Given the description of an element on the screen output the (x, y) to click on. 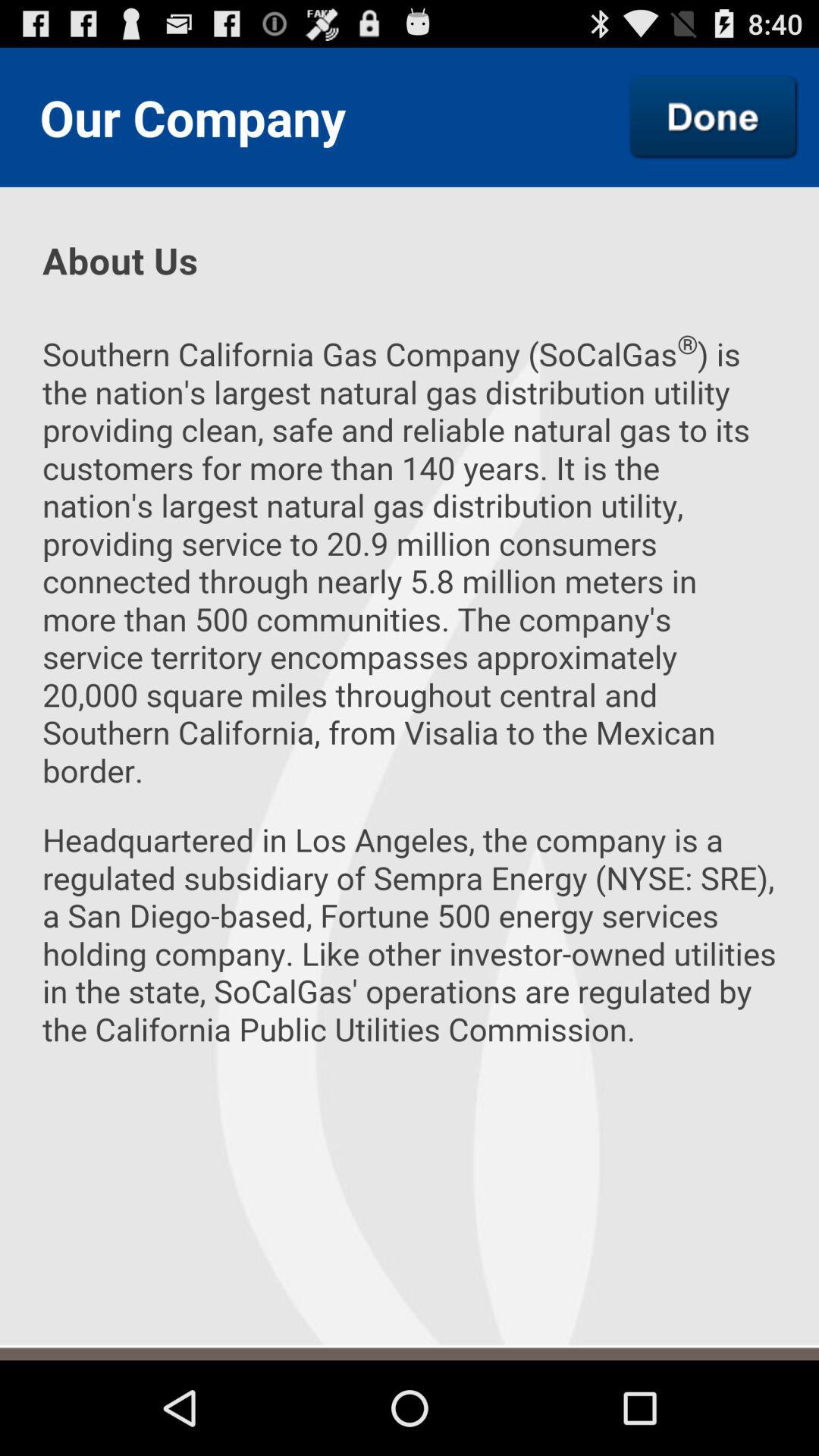
gas mapping app (714, 117)
